Given the description of an element on the screen output the (x, y) to click on. 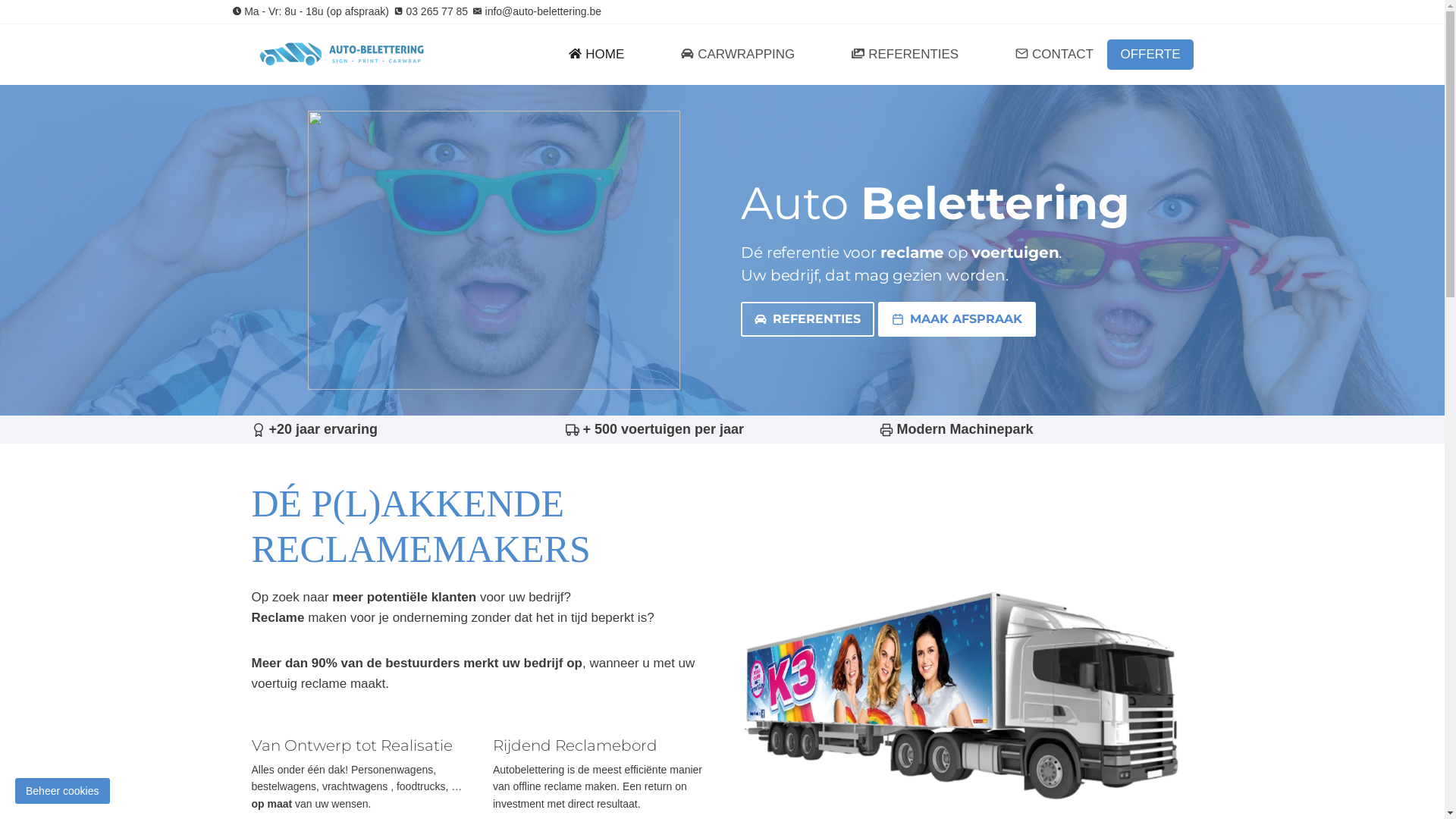
MAAK AFSPRAAK Element type: text (956, 318)
03 265 77 85 Element type: text (430, 11)
CARWRAPPING Element type: text (737, 54)
Beheer cookies Element type: text (62, 790)
CONTACT Element type: text (1053, 54)
OFFERTE Element type: text (1149, 54)
HOME Element type: text (596, 54)
info@auto-belettering.be Element type: text (537, 11)
REFERENTIES Element type: text (807, 318)
REFERENTIES Element type: text (905, 54)
